Given the description of an element on the screen output the (x, y) to click on. 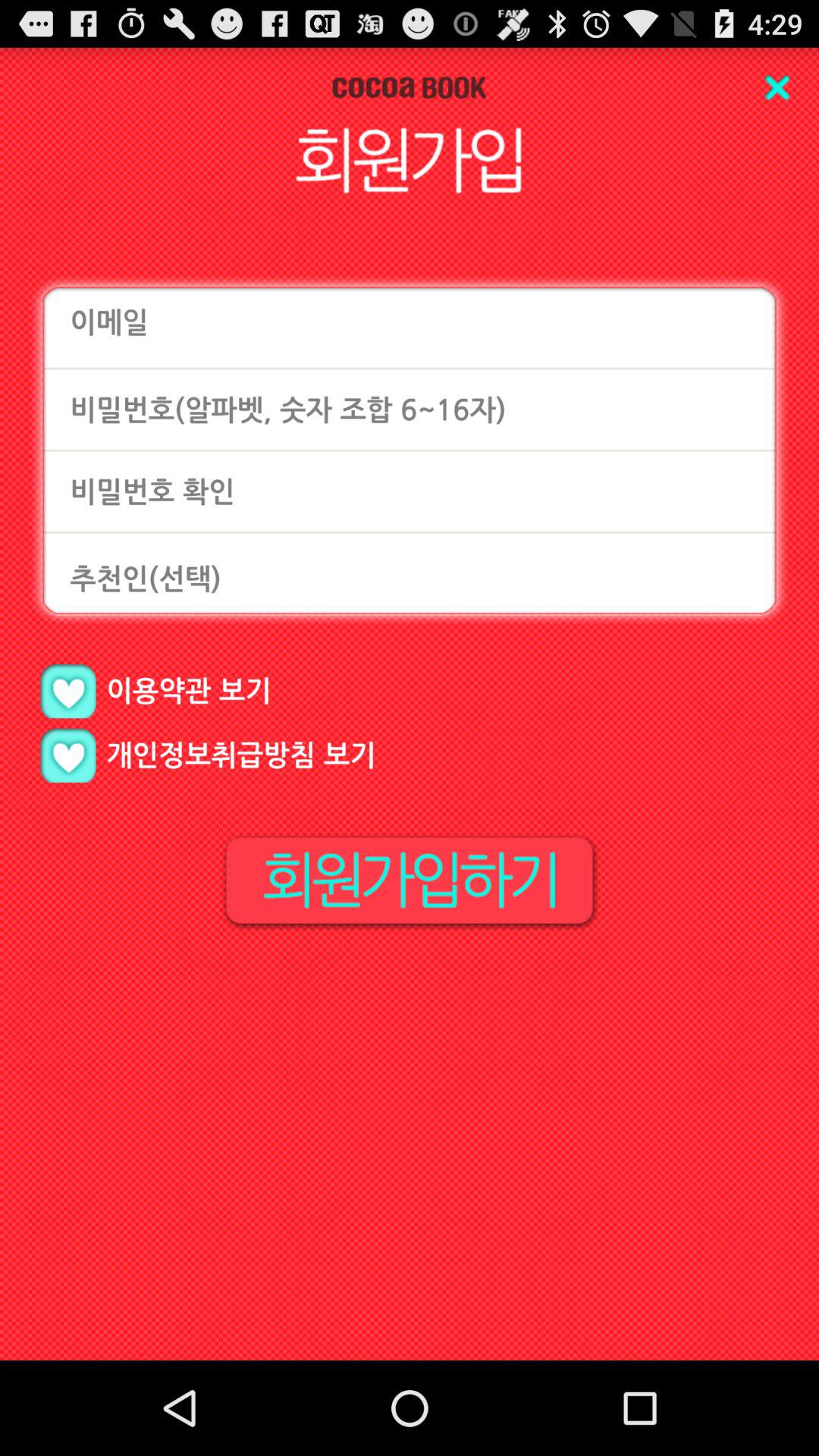
exit page (777, 87)
